Given the description of an element on the screen output the (x, y) to click on. 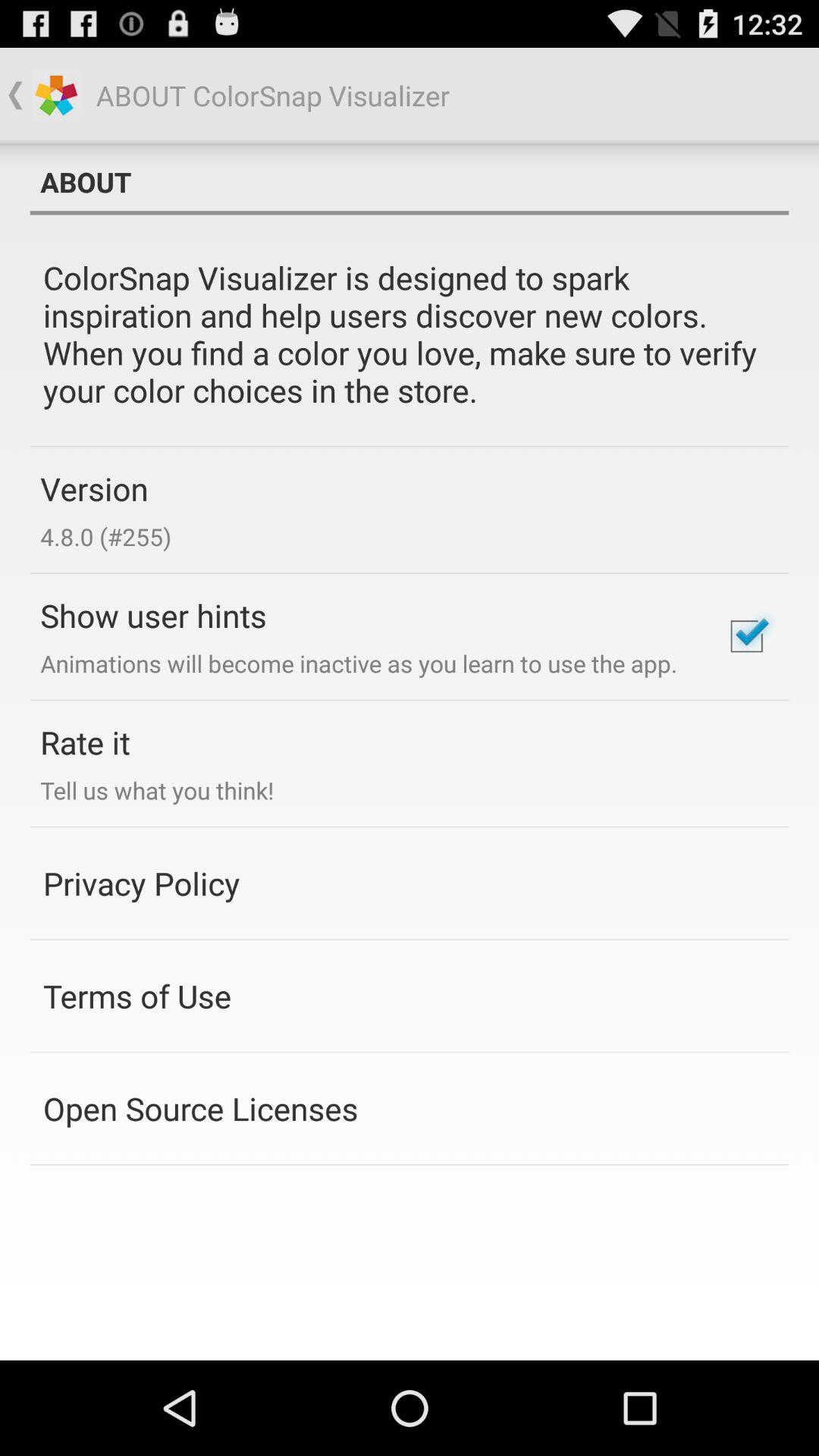
show user hints checkbox (746, 636)
